Given the description of an element on the screen output the (x, y) to click on. 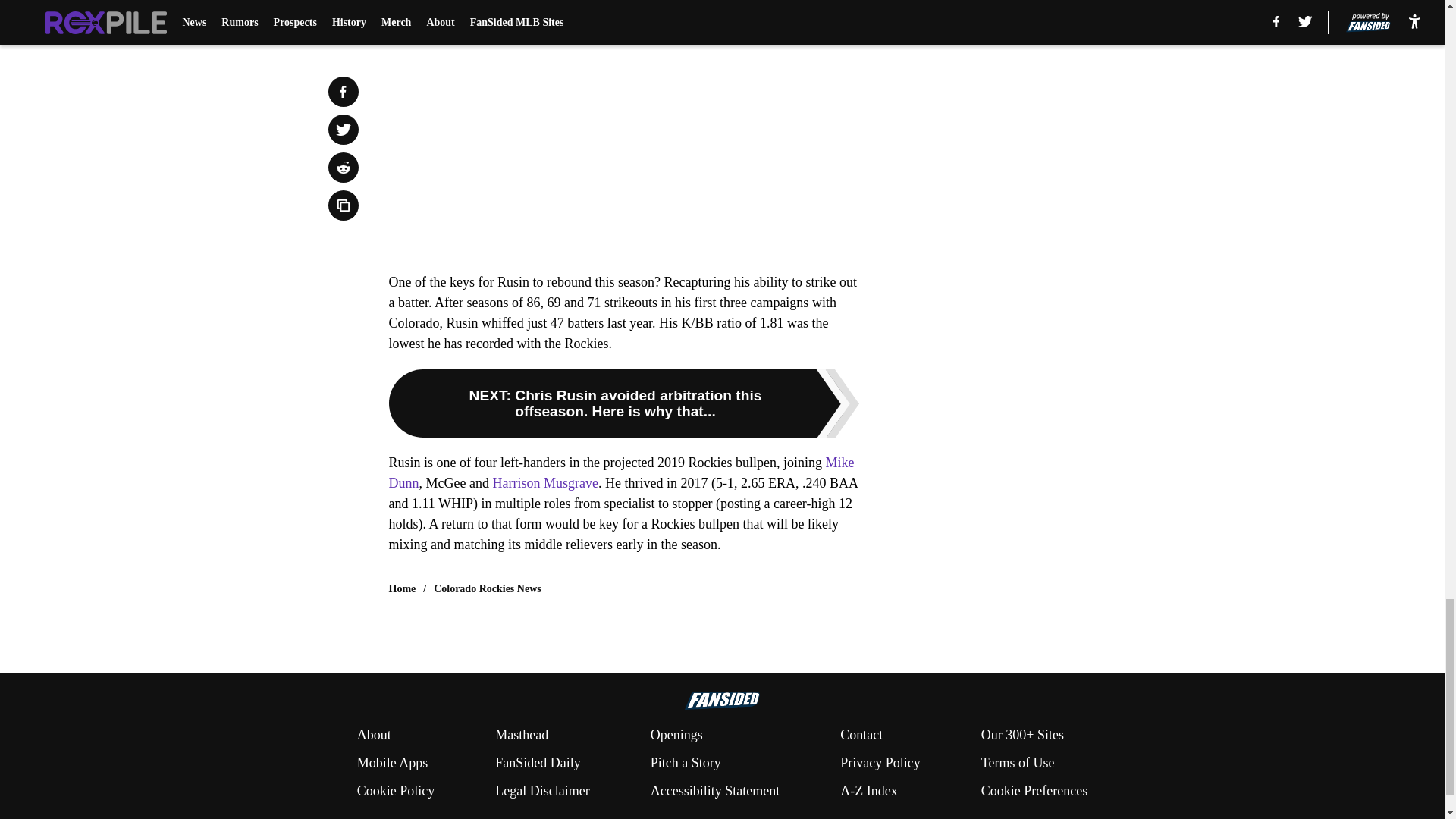
Home (401, 589)
Mike Dunn (620, 472)
Harrison Musgrave (544, 482)
Colorado Rockies News (487, 589)
About (373, 734)
Contact (861, 734)
Openings (676, 734)
Masthead (521, 734)
